Given the description of an element on the screen output the (x, y) to click on. 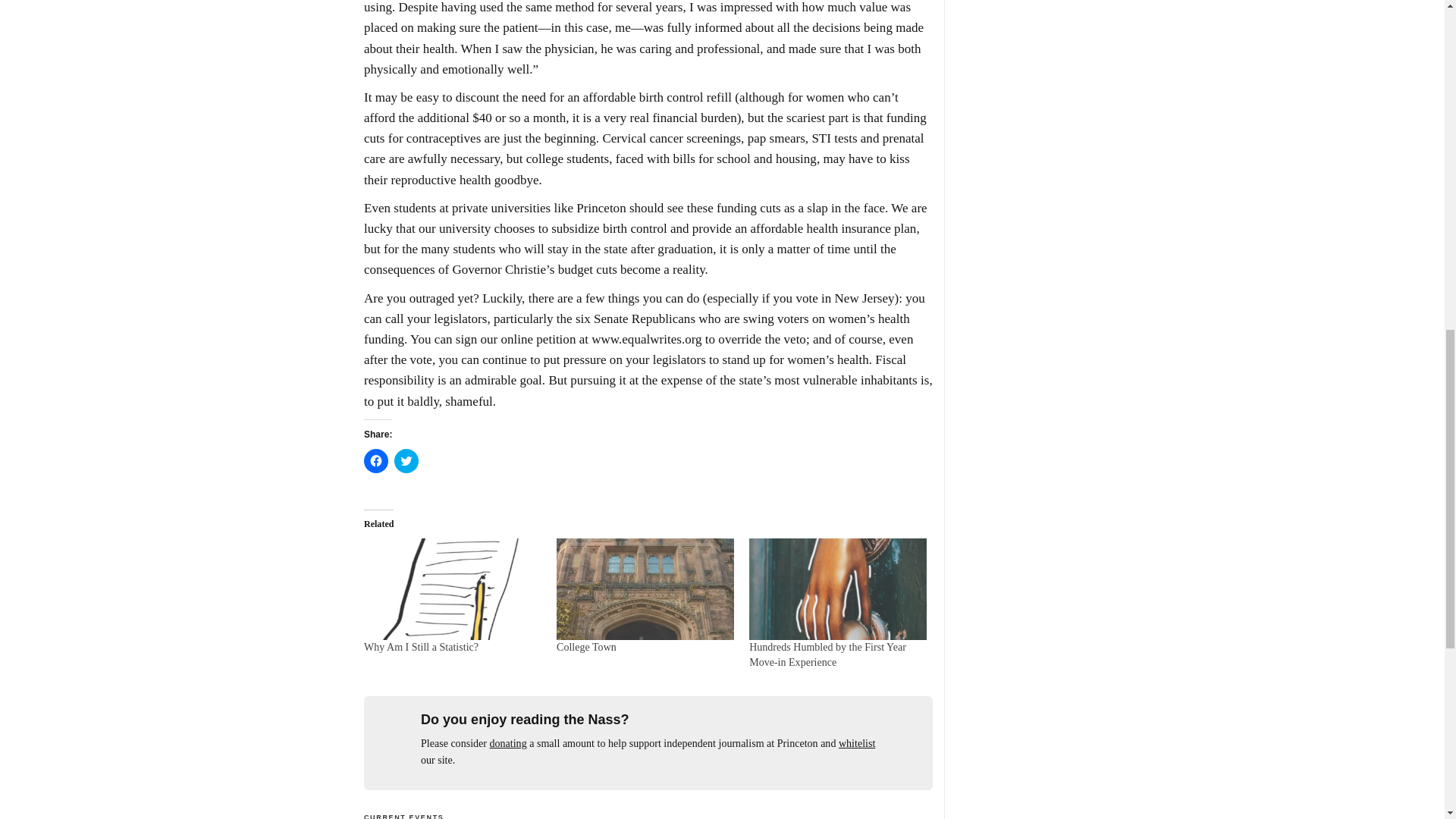
College Town (585, 646)
CURRENT EVENTS (404, 816)
Hundreds Humbled by the First Year Move-in Experience (827, 654)
Hundreds Humbled by the First Year Move-in Experience (837, 588)
Why Am I Still a Statistic? (421, 646)
Click to share on Facebook (376, 460)
College Town (644, 588)
Hundreds Humbled by the First Year Move-in Experience (827, 654)
Why Am I Still a Statistic? (452, 588)
Why Am I Still a Statistic? (421, 646)
whitelist (856, 743)
donating (508, 743)
Click to share on Twitter (406, 460)
College Town (585, 646)
